Given the description of an element on the screen output the (x, y) to click on. 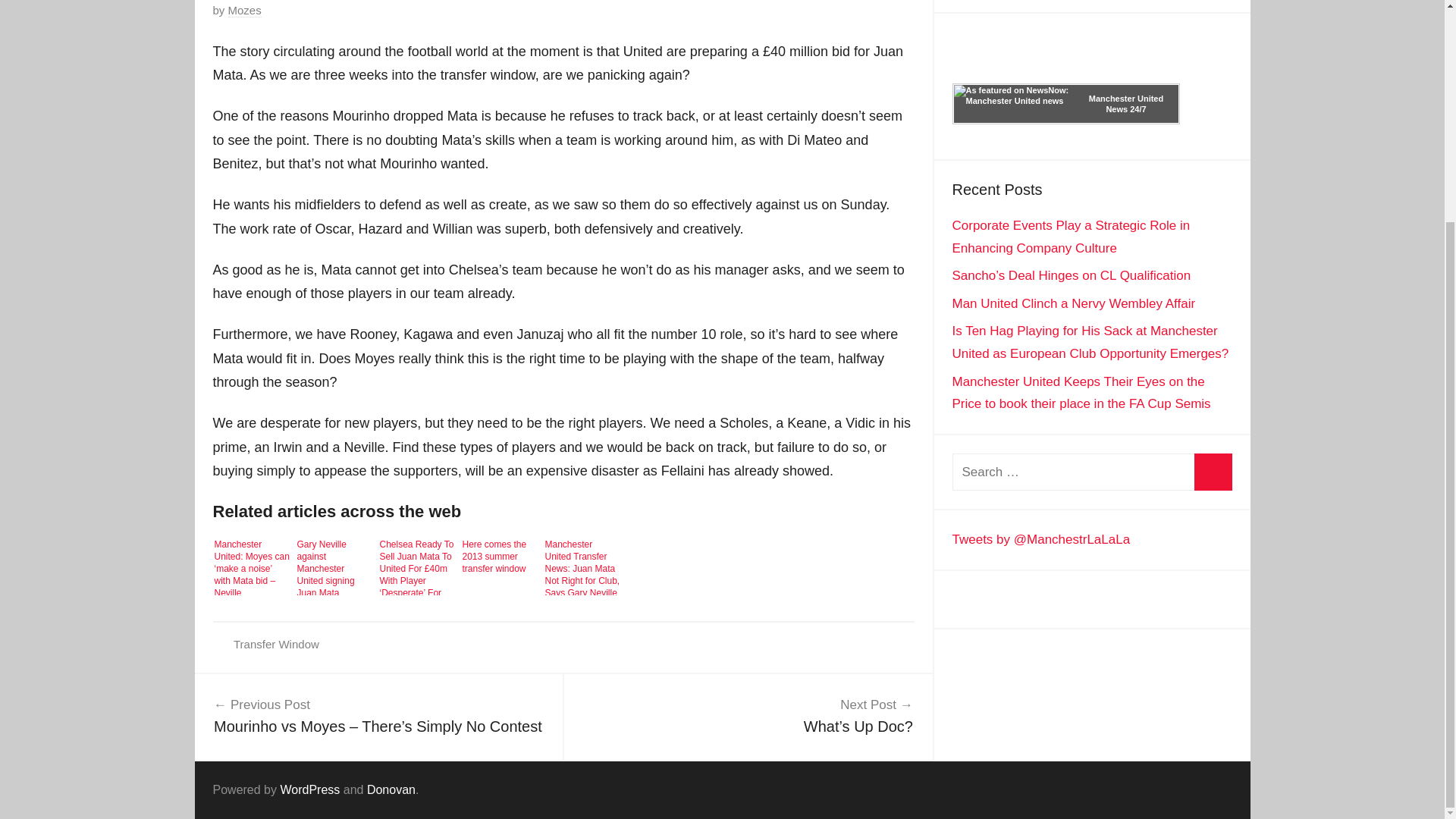
Click here for more Manchester United news from NewsNow (1065, 103)
Donovan WordPress Theme (390, 789)
View all posts by Mozes (245, 10)
WordPress (309, 789)
Man United Clinch a Nervy Wembley Affair (1073, 303)
Mozes (245, 10)
WordPress (309, 789)
Search for: (1091, 471)
Manchester United News (1126, 103)
Donovan (390, 789)
Gary Neville against Manchester United signing Juan Mata (334, 564)
Transfer Window (275, 644)
